Given the description of an element on the screen output the (x, y) to click on. 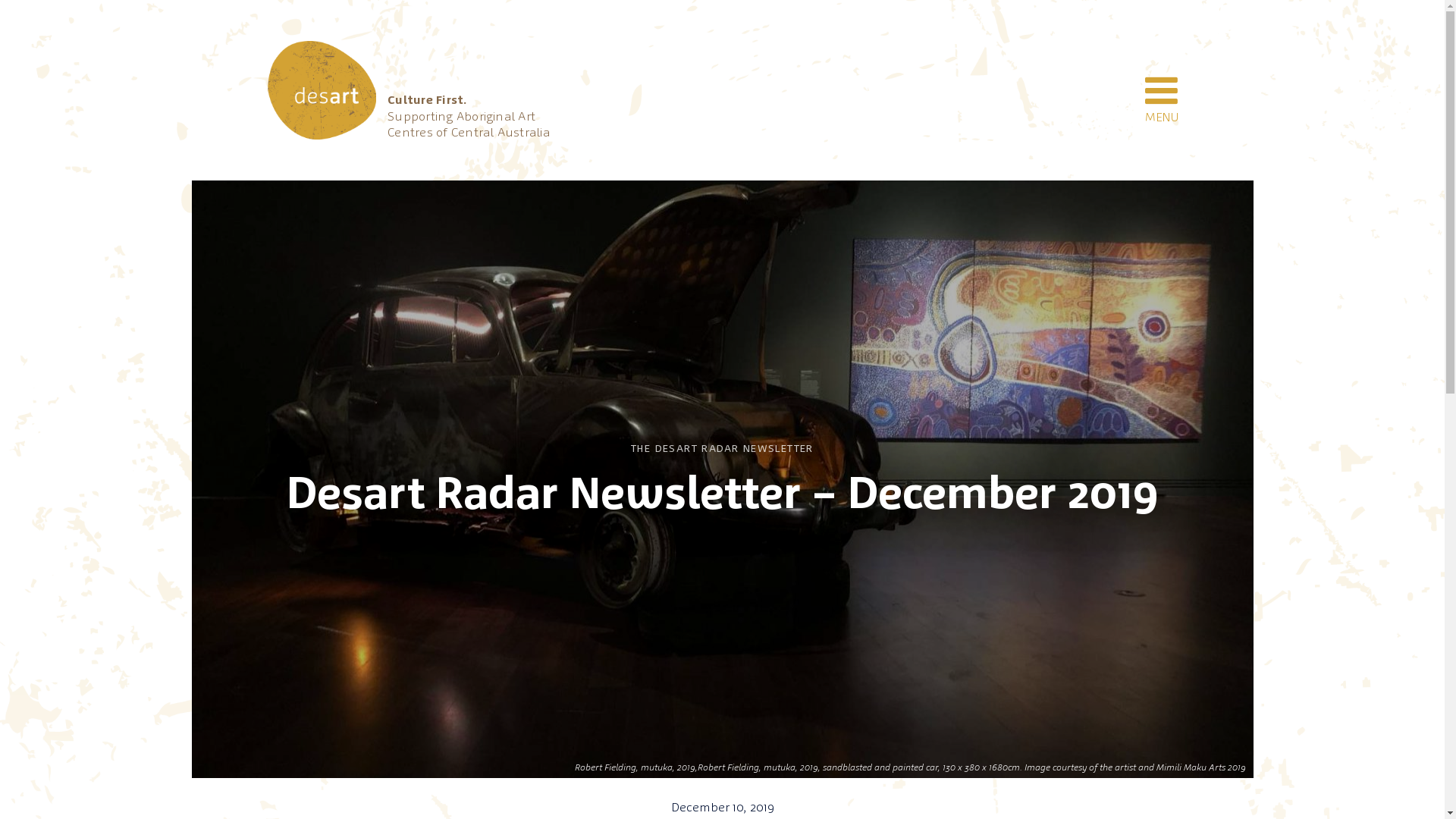
MENU Element type: text (1161, 90)
THE DESART RADAR NEWSLETTER Element type: text (721, 448)
